Given the description of an element on the screen output the (x, y) to click on. 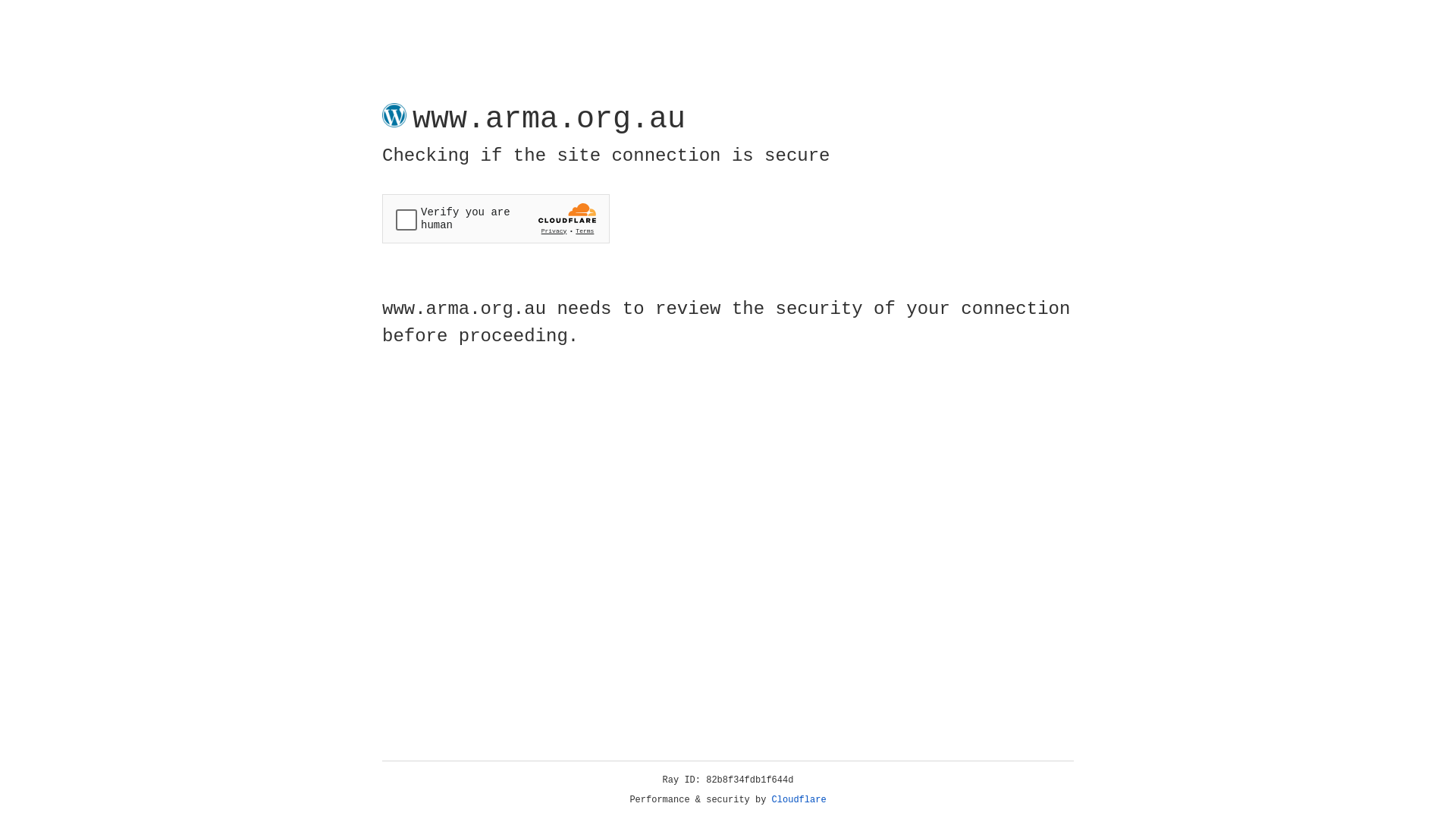
Cloudflare Element type: text (798, 799)
Widget containing a Cloudflare security challenge Element type: hover (495, 218)
